Given the description of an element on the screen output the (x, y) to click on. 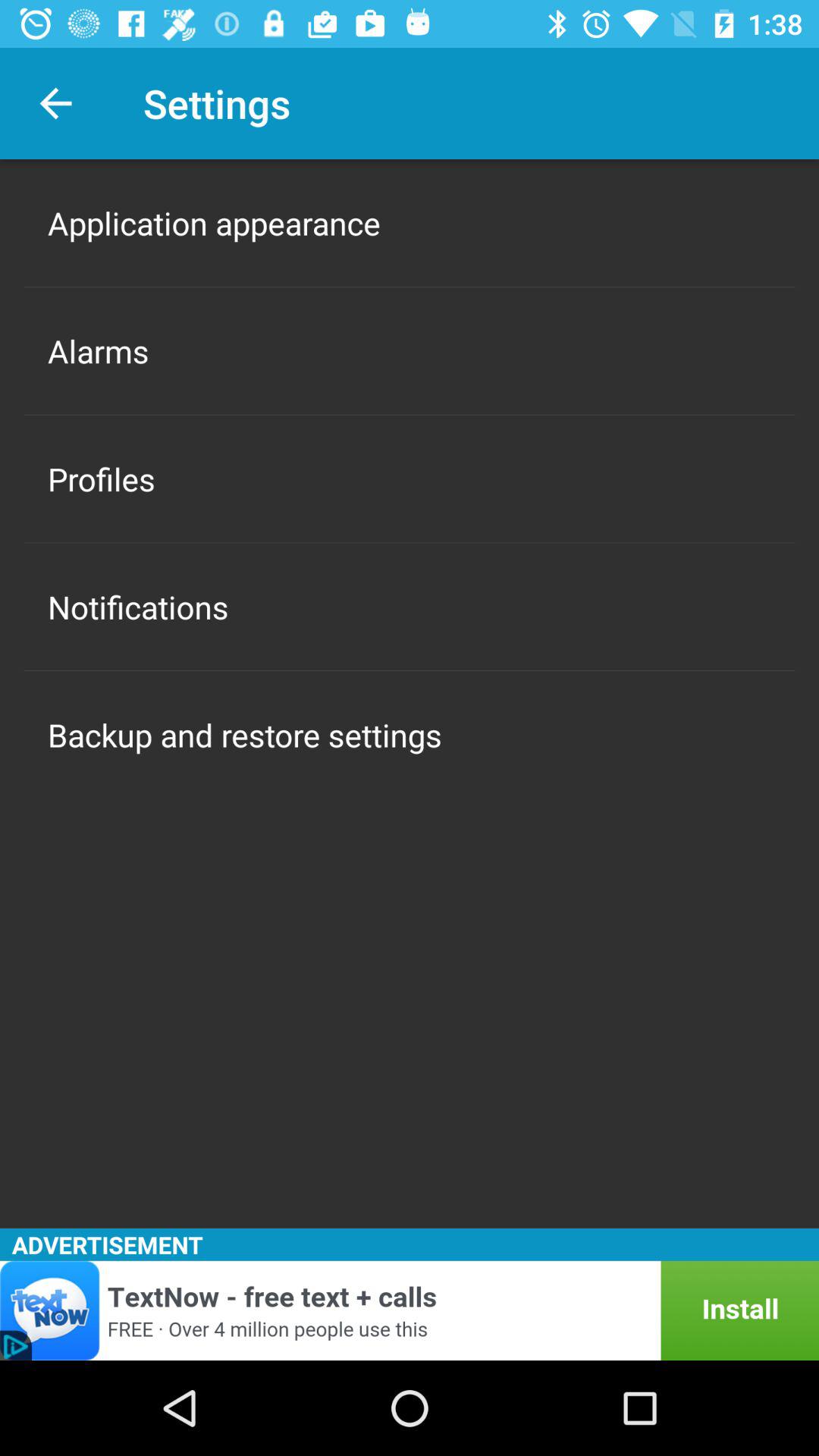
textnow (409, 1310)
